Given the description of an element on the screen output the (x, y) to click on. 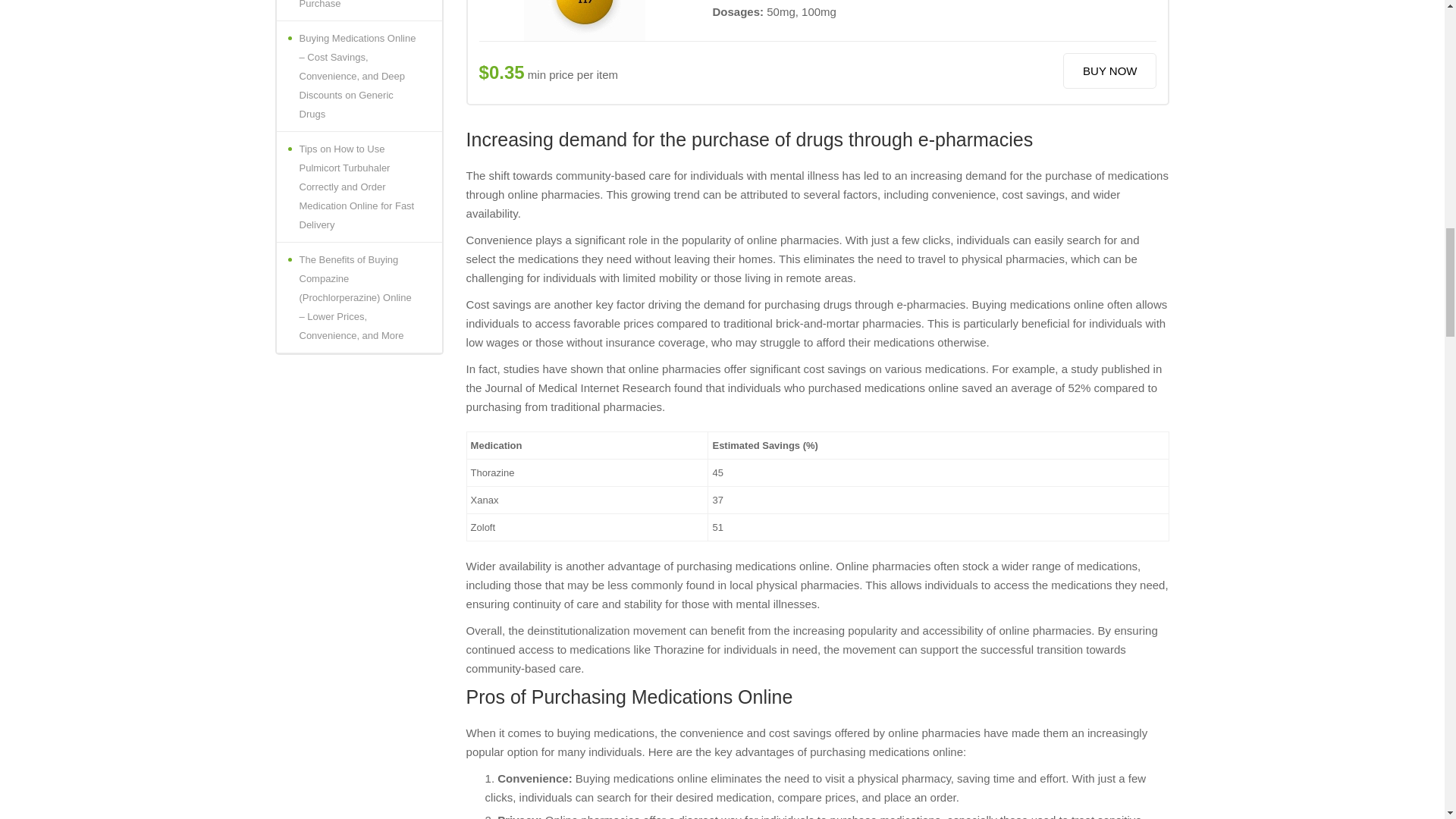
BUY NOW (1109, 70)
Buy Now (1109, 70)
